Given the description of an element on the screen output the (x, y) to click on. 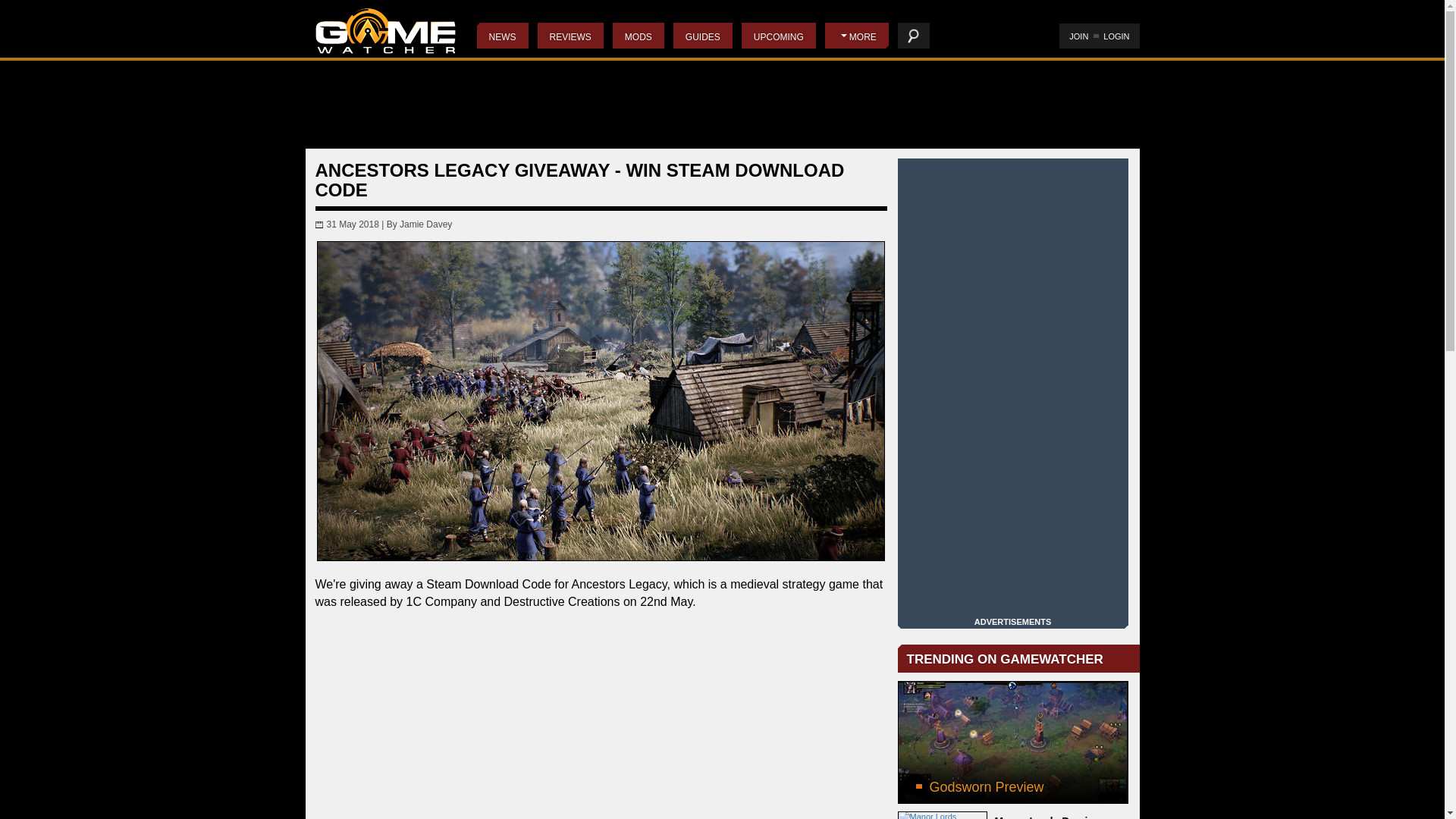
NEWS (501, 35)
MODS (637, 35)
LOGIN (1116, 36)
GUIDES (702, 35)
REVIEWS (569, 35)
UPCOMING (778, 35)
Jamie Davey (424, 224)
MORE (856, 35)
JOIN (1078, 36)
